Given the description of an element on the screen output the (x, y) to click on. 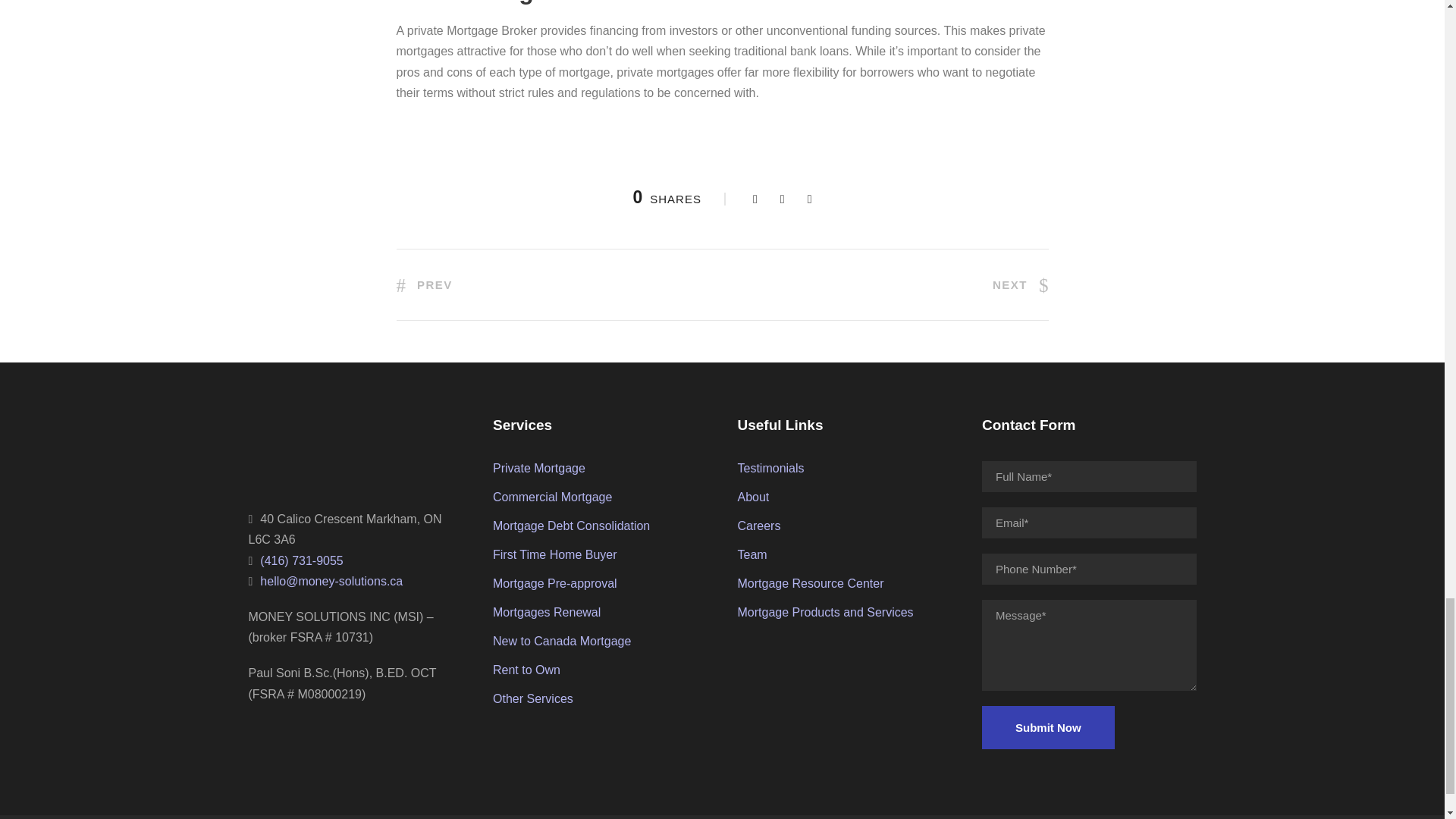
Submit Now (1048, 727)
